Given the description of an element on the screen output the (x, y) to click on. 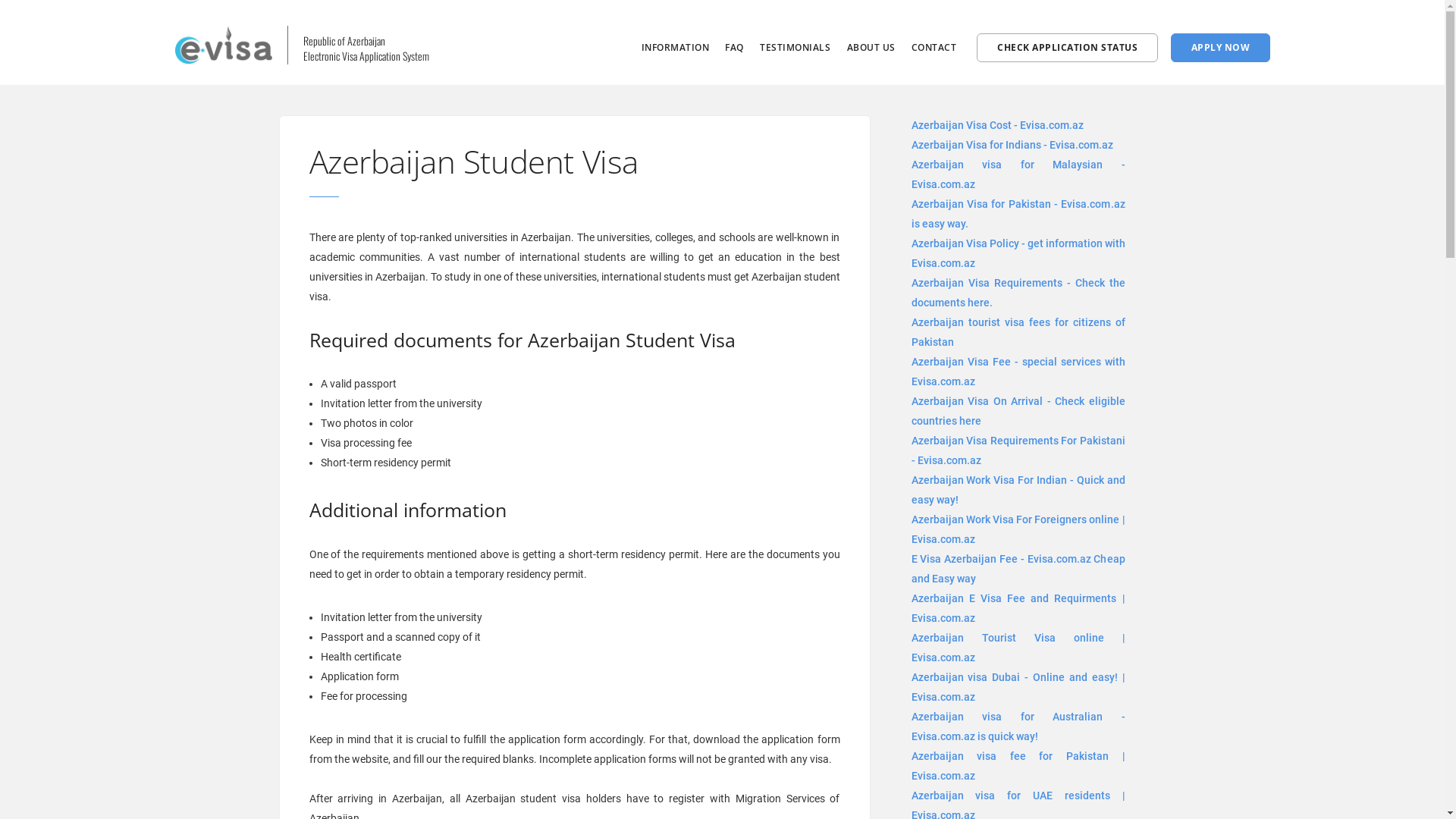
Azerbaijan Visa Requirements For Pakistani - Evisa.com.az Element type: text (1018, 450)
Azerbaijan Visa for Pakistan - Evisa.com.az is easy way. Element type: text (1018, 213)
Azerbaijan Work Visa For Foreigners online | Evisa.com.az Element type: text (1018, 529)
CHECK APPLICATION STATUS Element type: text (1066, 47)
Azerbaijan tourist visa fees for citizens of Pakistan Element type: text (1018, 332)
INFORMATION Element type: text (675, 46)
Azerbaijan visa for Australian - Evisa.com.az is quick way! Element type: text (1018, 726)
ABOUT US Element type: text (871, 46)
Azerbaijan visa for Malaysian - Evisa.com.az Element type: text (1018, 174)
Azerbaijan Work Visa For Indian - Quick and easy way! Element type: text (1018, 489)
TESTIMONIALS Element type: text (794, 46)
Republic of Azerbaijan
Electronic Visa Application System Element type: text (331, 40)
FAQ Element type: text (733, 46)
Azerbaijan Visa Policy - get information with Evisa.com.az Element type: text (1018, 253)
Azerbaijan Tourist Visa online | Evisa.com.az Element type: text (1018, 647)
Azerbaijan Visa On Arrival - Check eligible countries here Element type: text (1018, 410)
Azerbaijan visa fee for Pakistan | Evisa.com.az Element type: text (1018, 765)
CONTACT Element type: text (934, 46)
Azerbaijan visa Dubai - Online and easy! | Evisa.com.az Element type: text (1018, 686)
Azerbaijan Visa for Indians - Evisa.com.az Element type: text (1012, 144)
APPLY NOW Element type: text (1220, 47)
Azerbaijan Visa Fee - special services with Evisa.com.az Element type: text (1018, 371)
Azerbaijan E Visa Fee and Requirments | Evisa.com.az Element type: text (1018, 608)
Azerbaijan Visa Requirements - Check the documents here. Element type: text (1018, 292)
Azerbaijan Visa Cost - Evisa.com.az Element type: text (997, 125)
E Visa Azerbaijan Fee - Evisa.com.az Cheap and Easy way Element type: text (1018, 568)
